Given the description of an element on the screen output the (x, y) to click on. 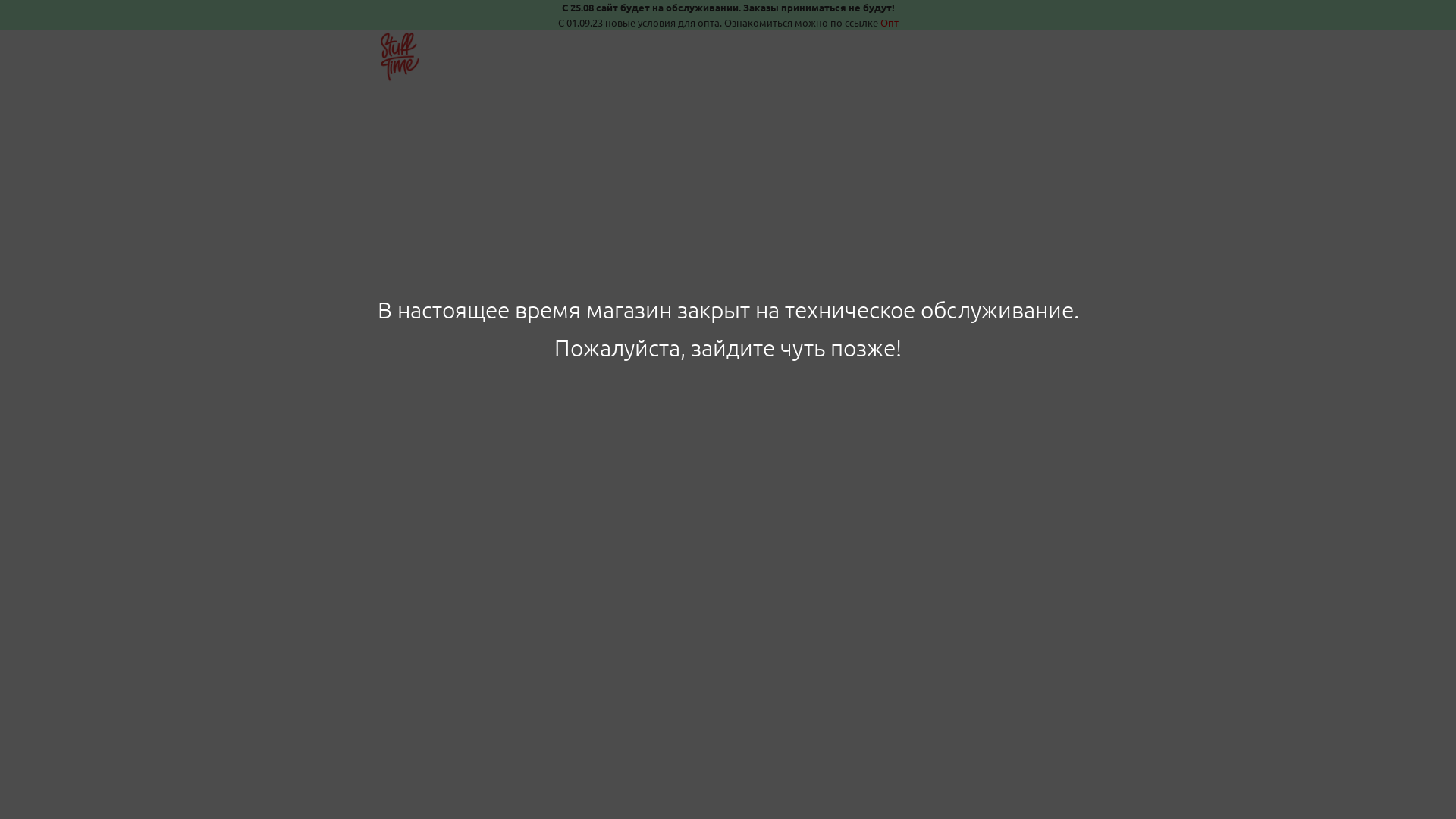
Stuff Time Element type: hover (397, 56)
